Given the description of an element on the screen output the (x, y) to click on. 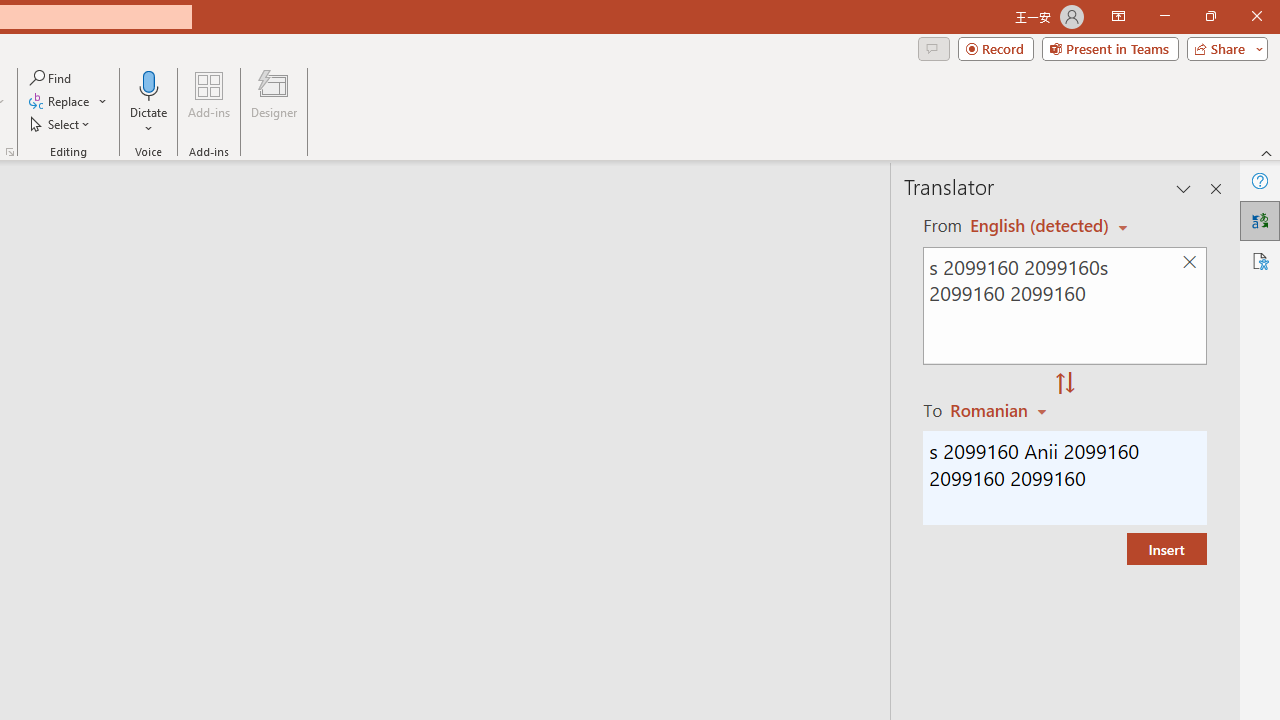
Czech (detected) (1039, 225)
Clear text (1189, 262)
